Given the description of an element on the screen output the (x, y) to click on. 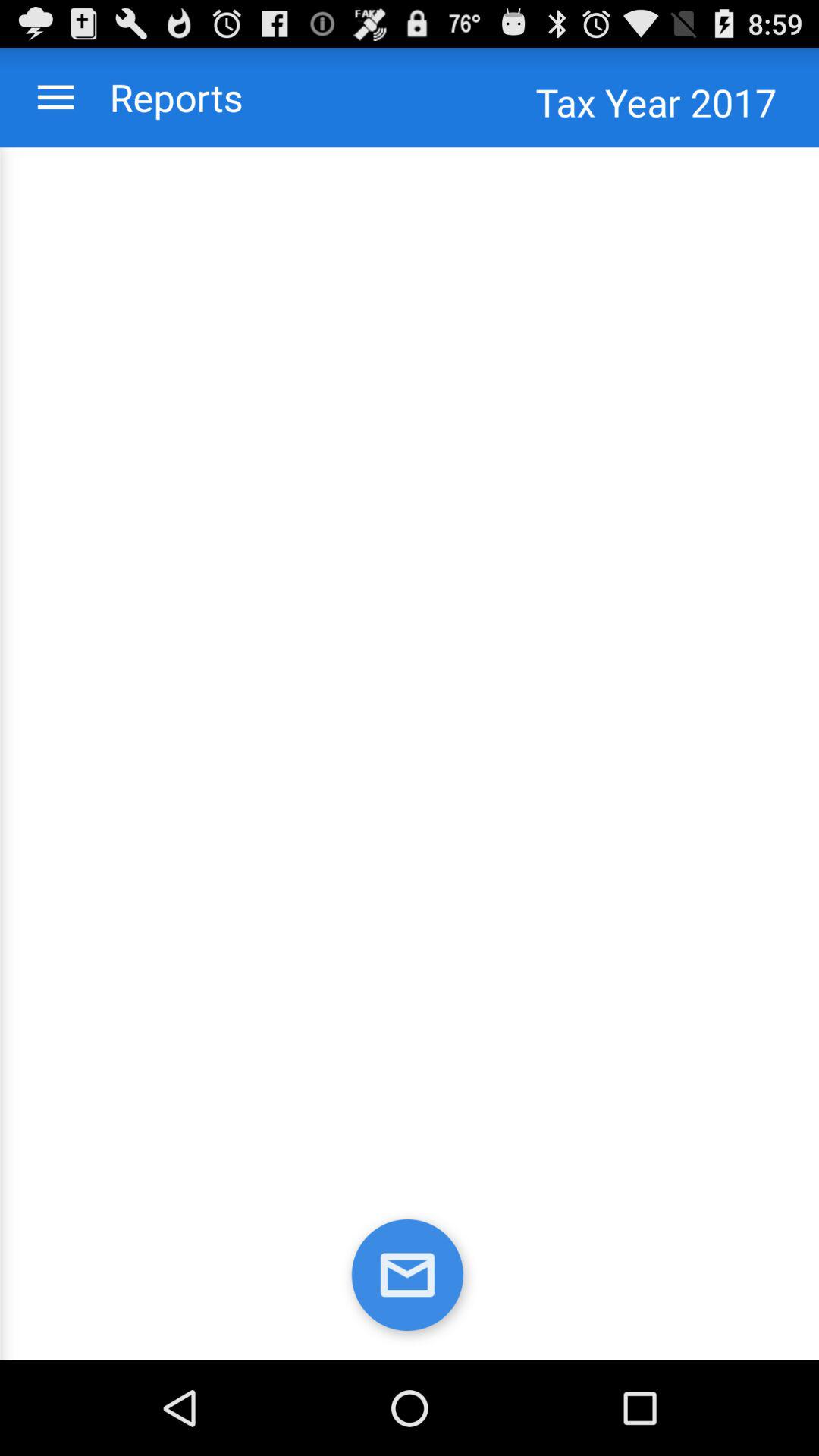
show more items (55, 97)
